Given the description of an element on the screen output the (x, y) to click on. 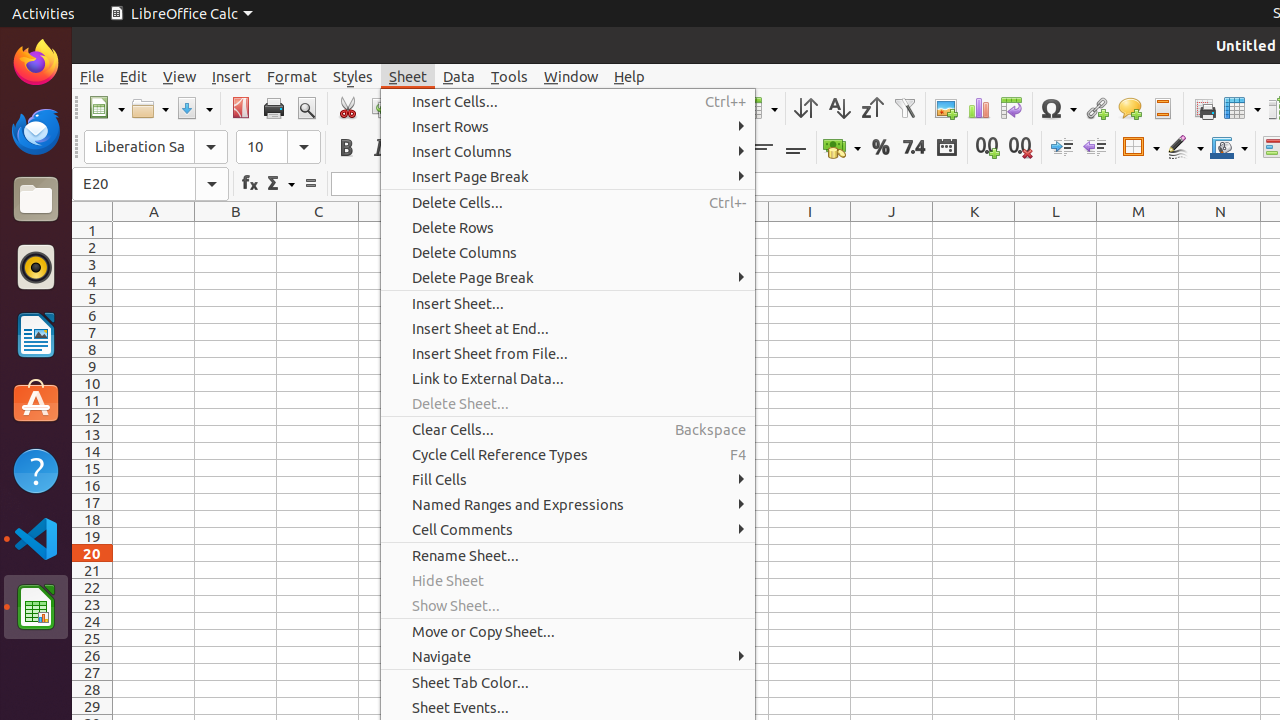
A1 Element type: table-cell (154, 230)
Sort Element type: push-button (805, 108)
Sort Descending Element type: push-button (871, 108)
Window Element type: menu (571, 76)
Sheet Element type: menu (408, 76)
